Given the description of an element on the screen output the (x, y) to click on. 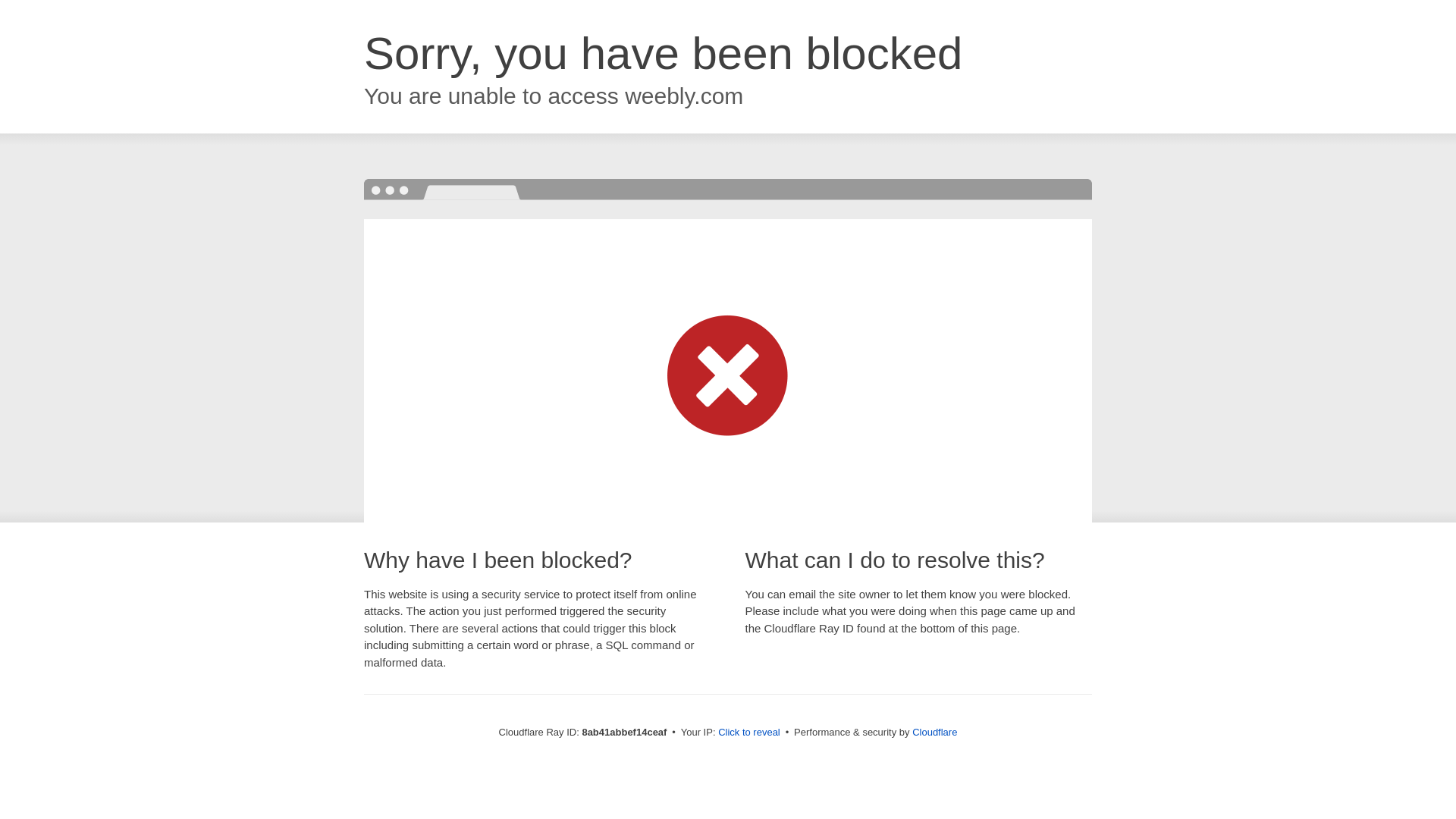
Click to reveal (748, 732)
Cloudflare (934, 731)
